Given the description of an element on the screen output the (x, y) to click on. 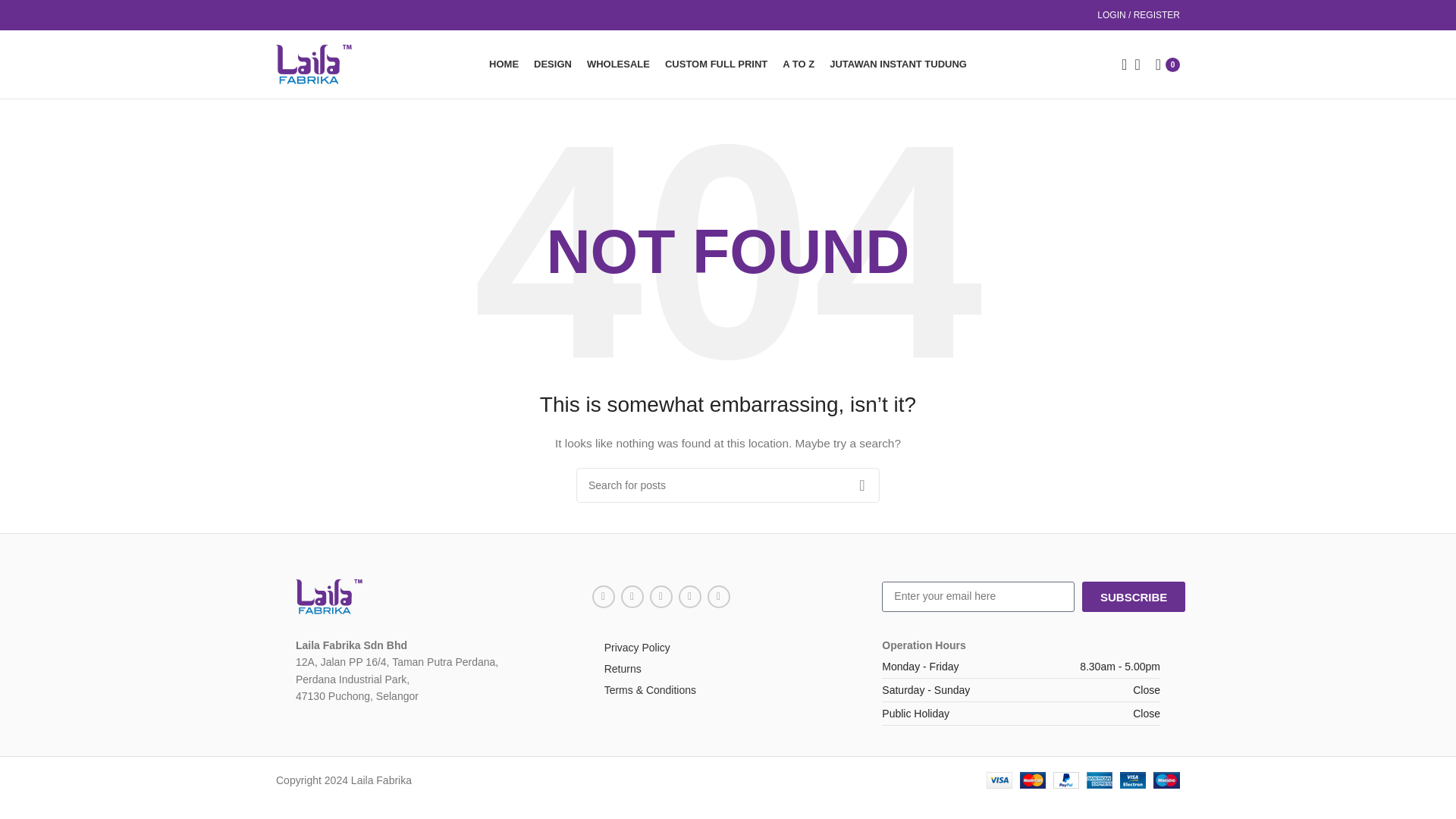
WHOLESALE (617, 64)
CUSTOM FULL PRINT (716, 64)
SUBSCRIBE (1133, 596)
A TO Z (798, 64)
Shopping cart (1168, 64)
JUTAWAN INSTANT TUDUNG (897, 64)
My account (1138, 15)
Privacy Policy (728, 647)
DESIGN (553, 64)
SEARCH (861, 484)
